Given the description of an element on the screen output the (x, y) to click on. 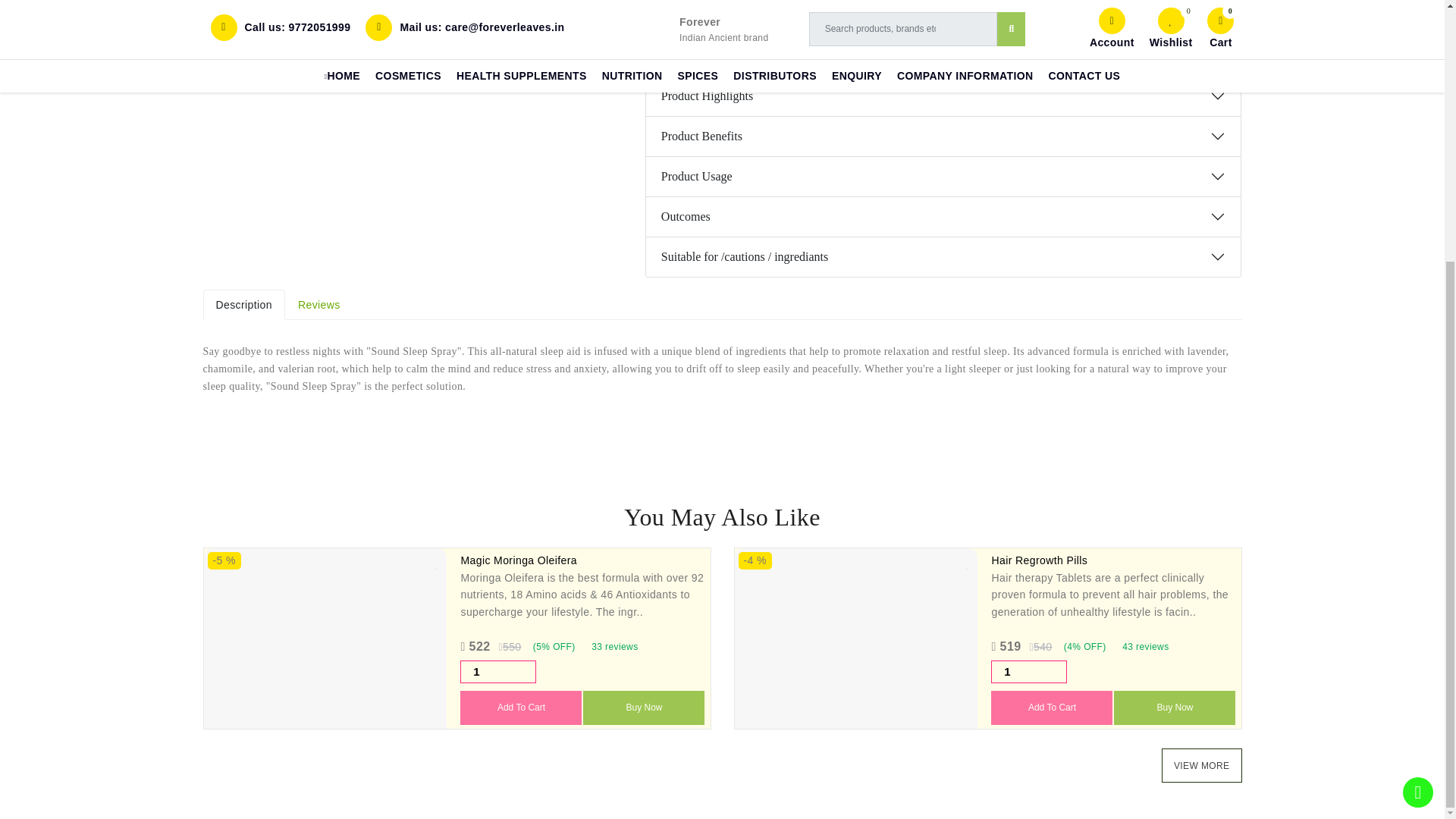
Description (244, 305)
Reviews (319, 305)
